Given the description of an element on the screen output the (x, y) to click on. 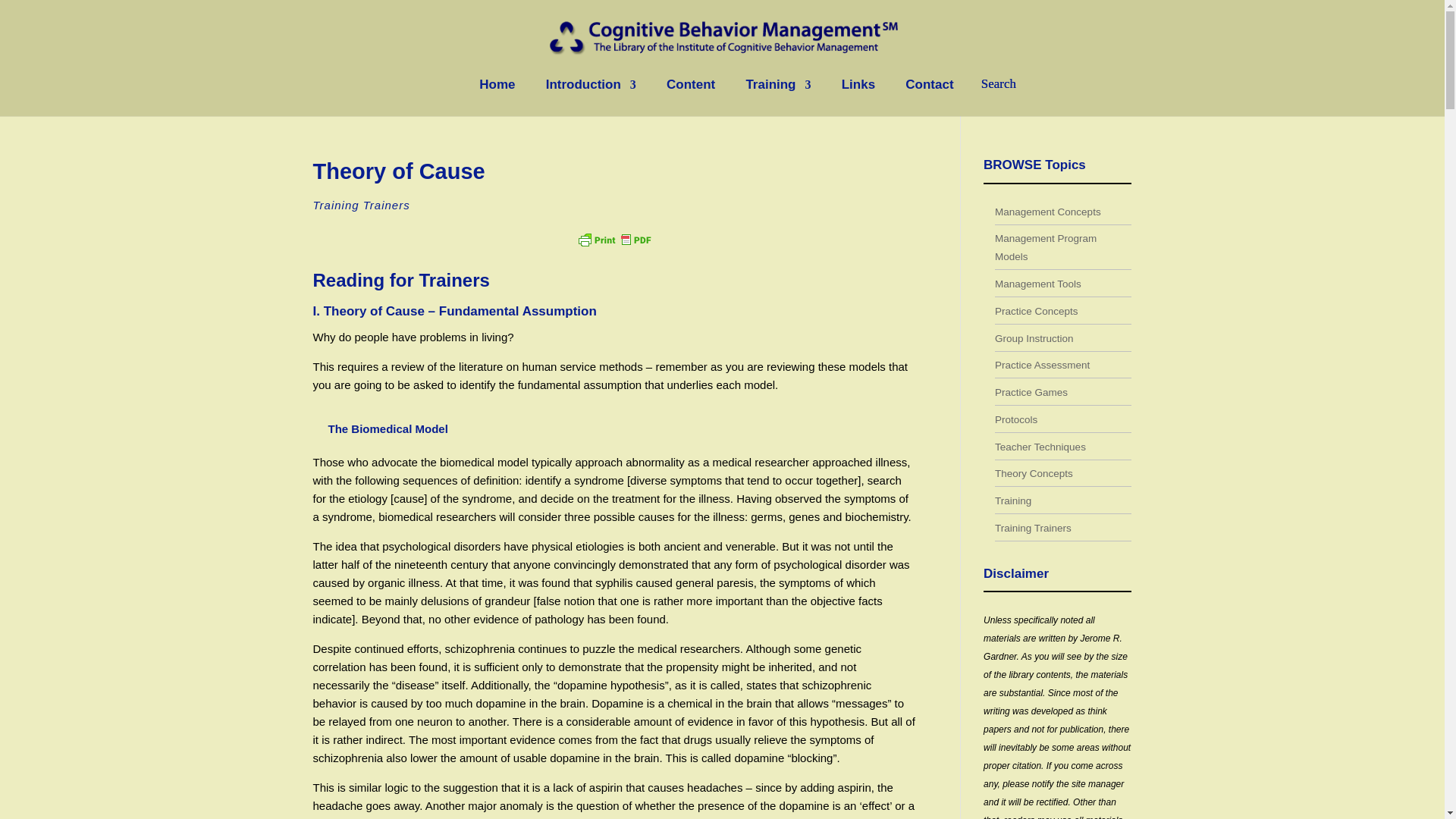
Theory Concepts (1033, 473)
Management Concepts (1047, 211)
Home (497, 97)
Teacher Techniques (1040, 446)
Contact (929, 97)
Practice Assessment (1041, 365)
Training Trainers (361, 205)
Practice Concepts (1036, 310)
Practice Games (1030, 392)
Training (777, 97)
Protocols (1015, 419)
Group Instruction (1034, 337)
Introduction (591, 97)
Links (858, 97)
Training (1012, 500)
